Given the description of an element on the screen output the (x, y) to click on. 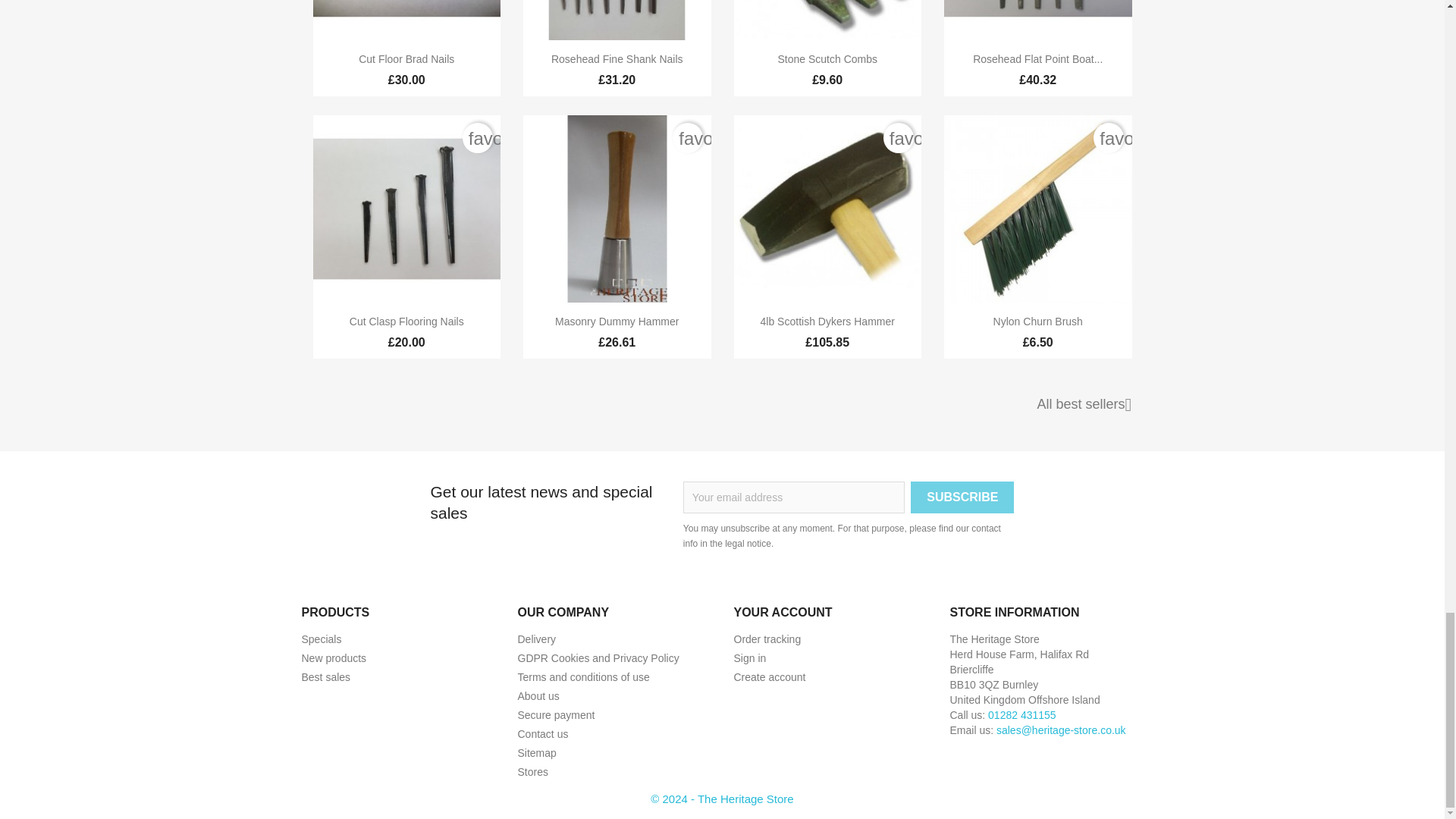
Our terms and conditions of use (582, 676)
Order tracking (767, 639)
Our terms and conditions of delivery (536, 639)
Our best sales (325, 676)
Legal notice of our privacy policy (597, 657)
Our secure payment mean (555, 715)
Create account (769, 676)
Subscribe (962, 497)
Our special products (321, 639)
Log in to your customer account (750, 657)
Our new products (333, 657)
Lost ? Find what your are looking for (536, 752)
Learn more about us (537, 695)
